Given the description of an element on the screen output the (x, y) to click on. 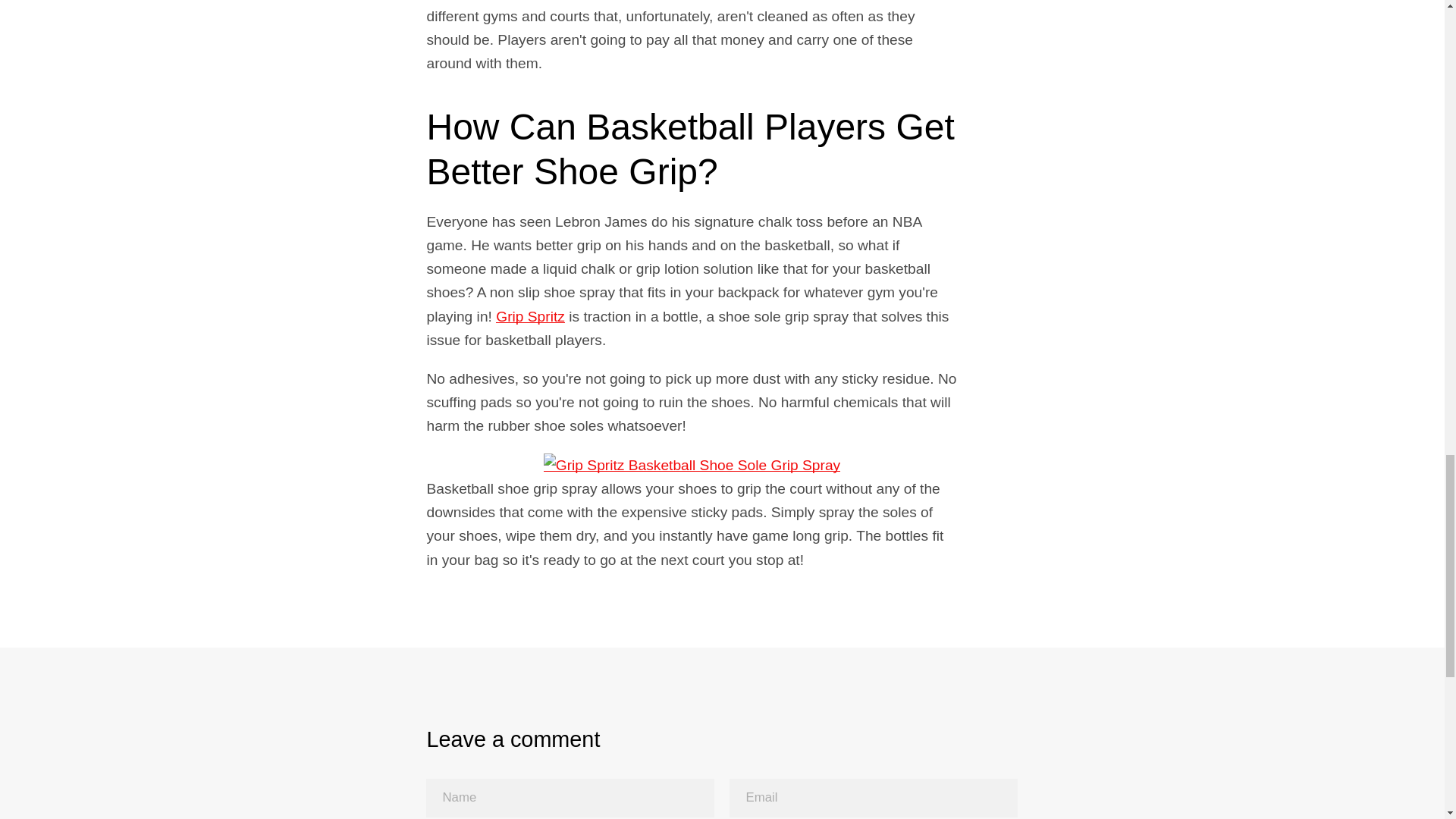
Basketball Shoe Non Slip Grip Spray (530, 316)
Grip Spritz (530, 316)
Grip Spritz Basketball Shoe Sole Grip Spray (691, 465)
